Given the description of an element on the screen output the (x, y) to click on. 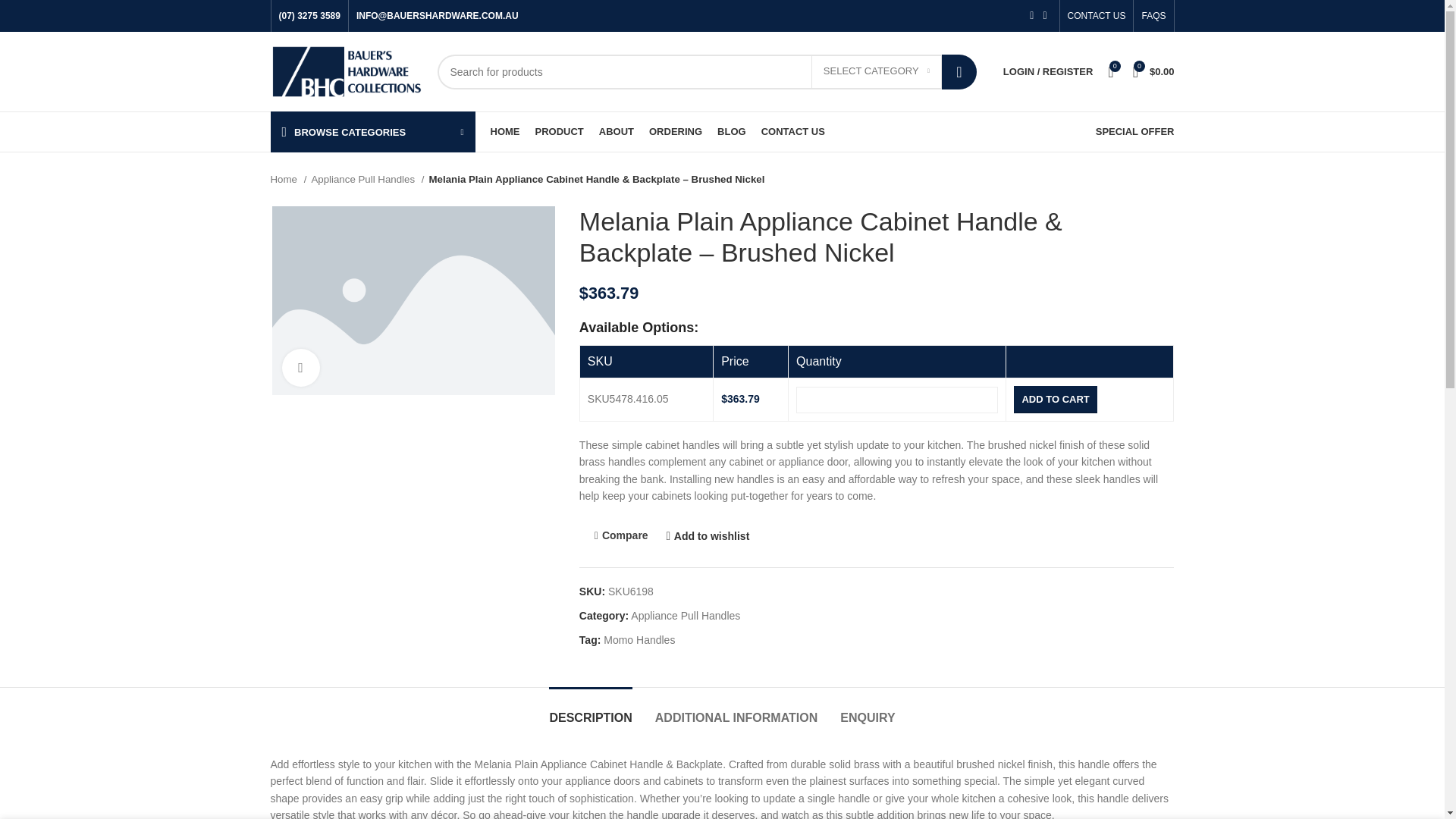
CONTACT US (1096, 15)
SELECT CATEGORY (876, 71)
Search for products (705, 71)
My account (1047, 71)
SELECT CATEGORY (876, 71)
SEARCH (959, 71)
Shopping cart (1153, 71)
Qty (896, 399)
